Given the description of an element on the screen output the (x, y) to click on. 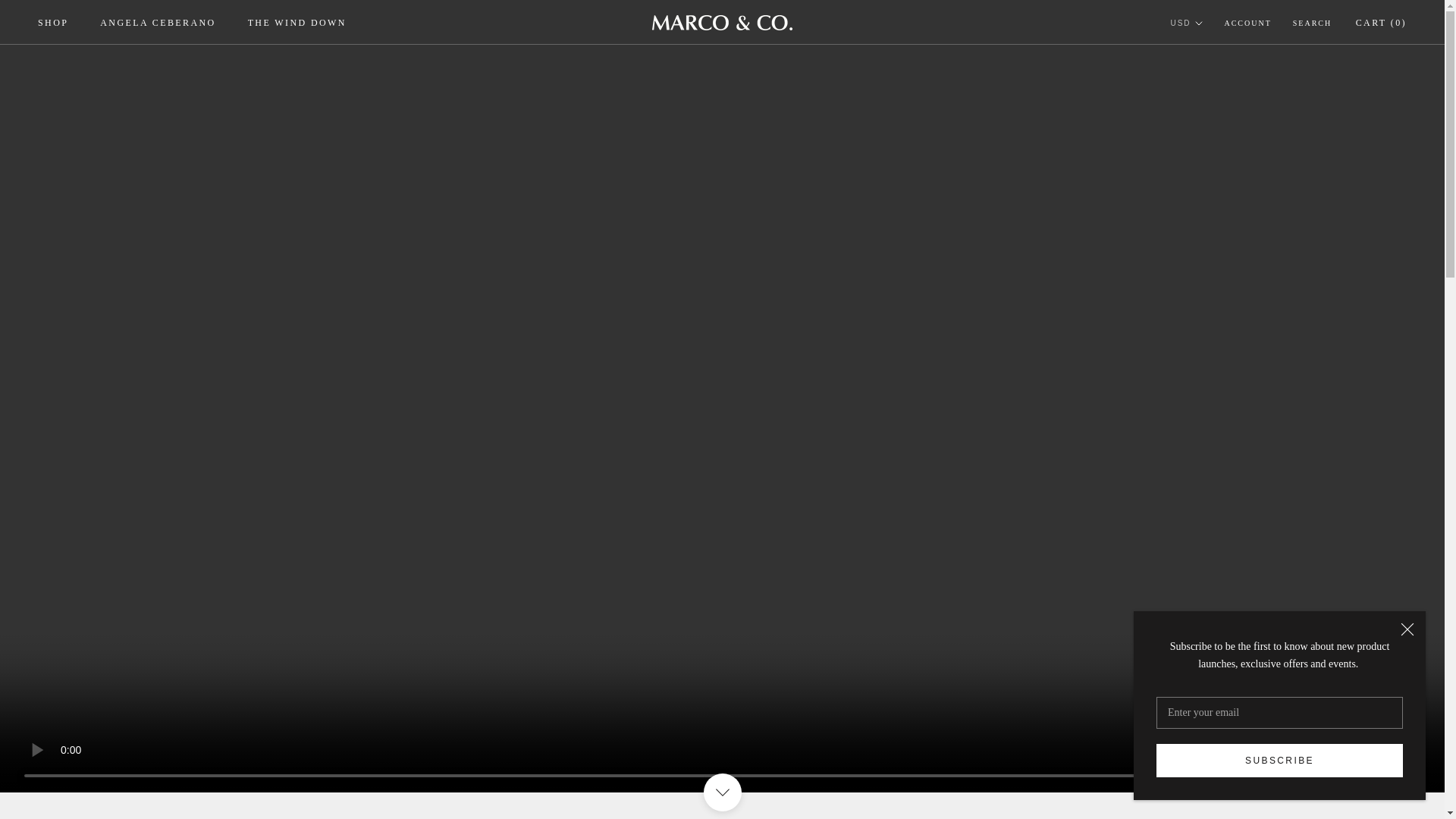
Currency selector (296, 22)
SUBSCRIBE (1186, 22)
SEARCH (1279, 760)
ACCOUNT (1312, 23)
